Given the description of an element on the screen output the (x, y) to click on. 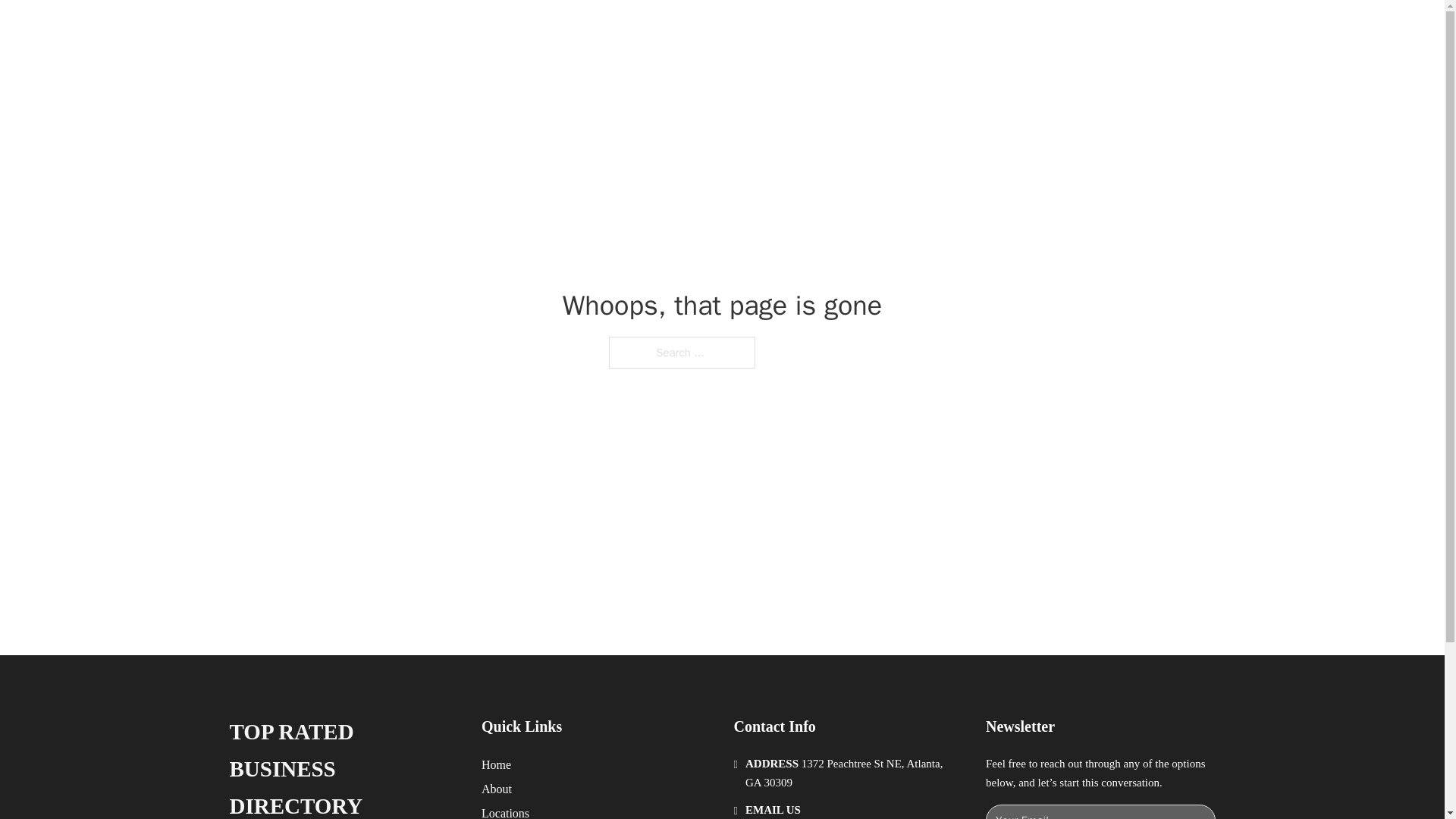
About (496, 788)
LOCATIONS (990, 29)
Locations (505, 811)
HOME (919, 29)
Home (496, 764)
TOP RATED BUSINESS DIRECTORY (343, 766)
TOP RATED BUSINESS DIRECTORY (475, 28)
